Given the description of an element on the screen output the (x, y) to click on. 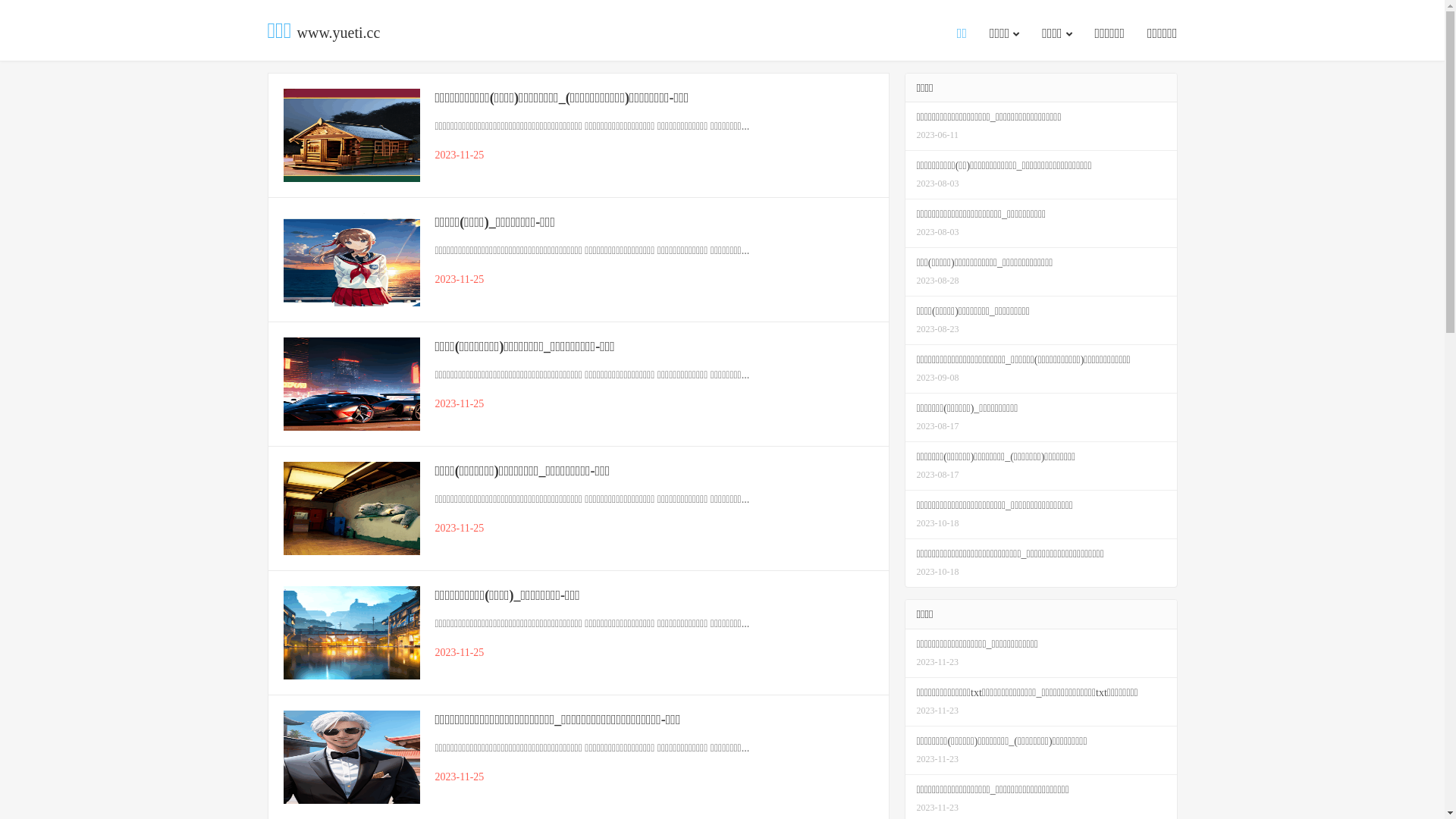
0 Element type: text (6, 24)
